Given the description of an element on the screen output the (x, y) to click on. 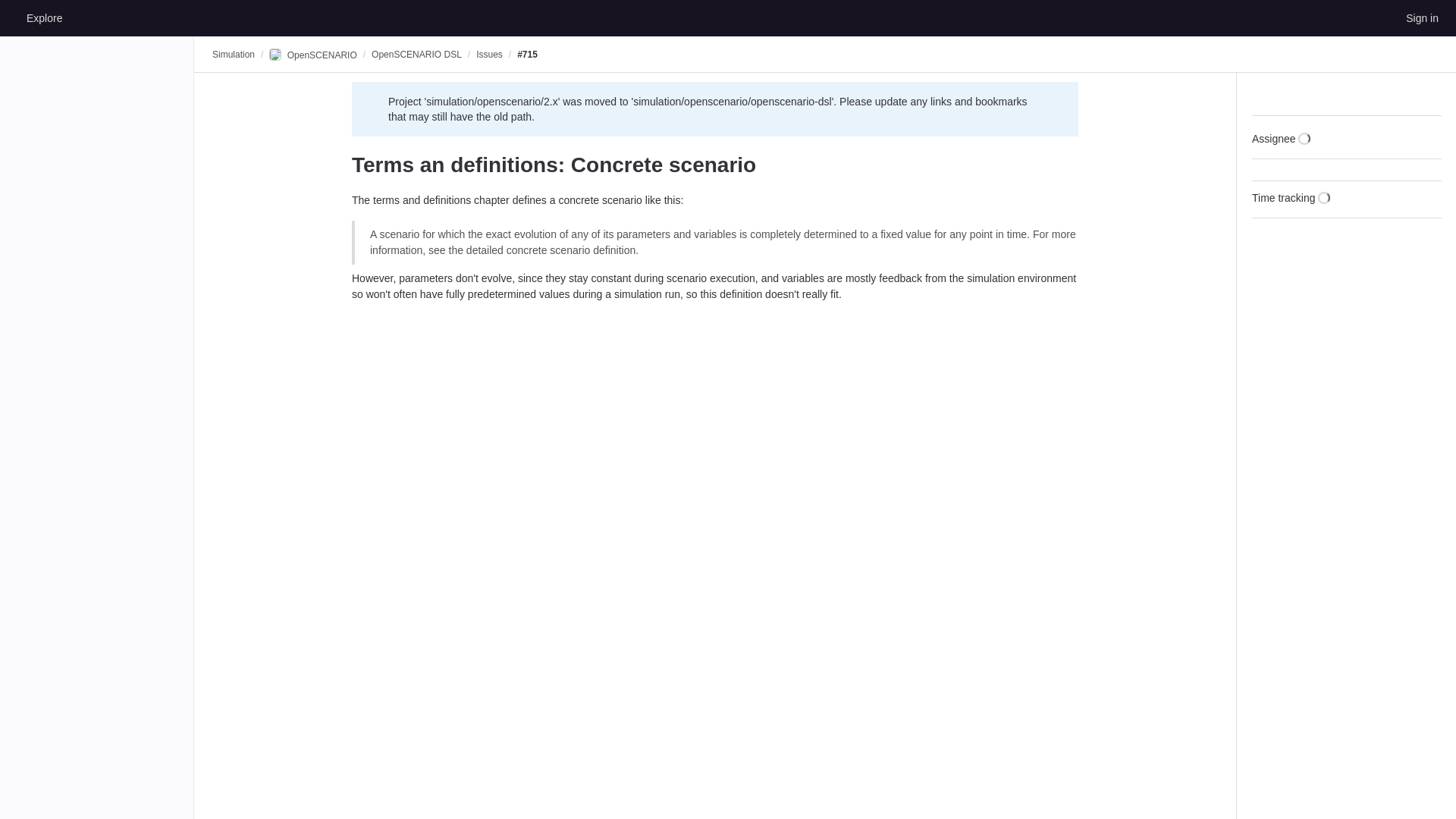
Sign in (1421, 17)
Issues (489, 54)
OpenSCENARIO DSL (416, 54)
Collapse sidebar (1432, 94)
Explore (44, 17)
Simulation (233, 54)
OpenSCENARIO (312, 54)
